Given the description of an element on the screen output the (x, y) to click on. 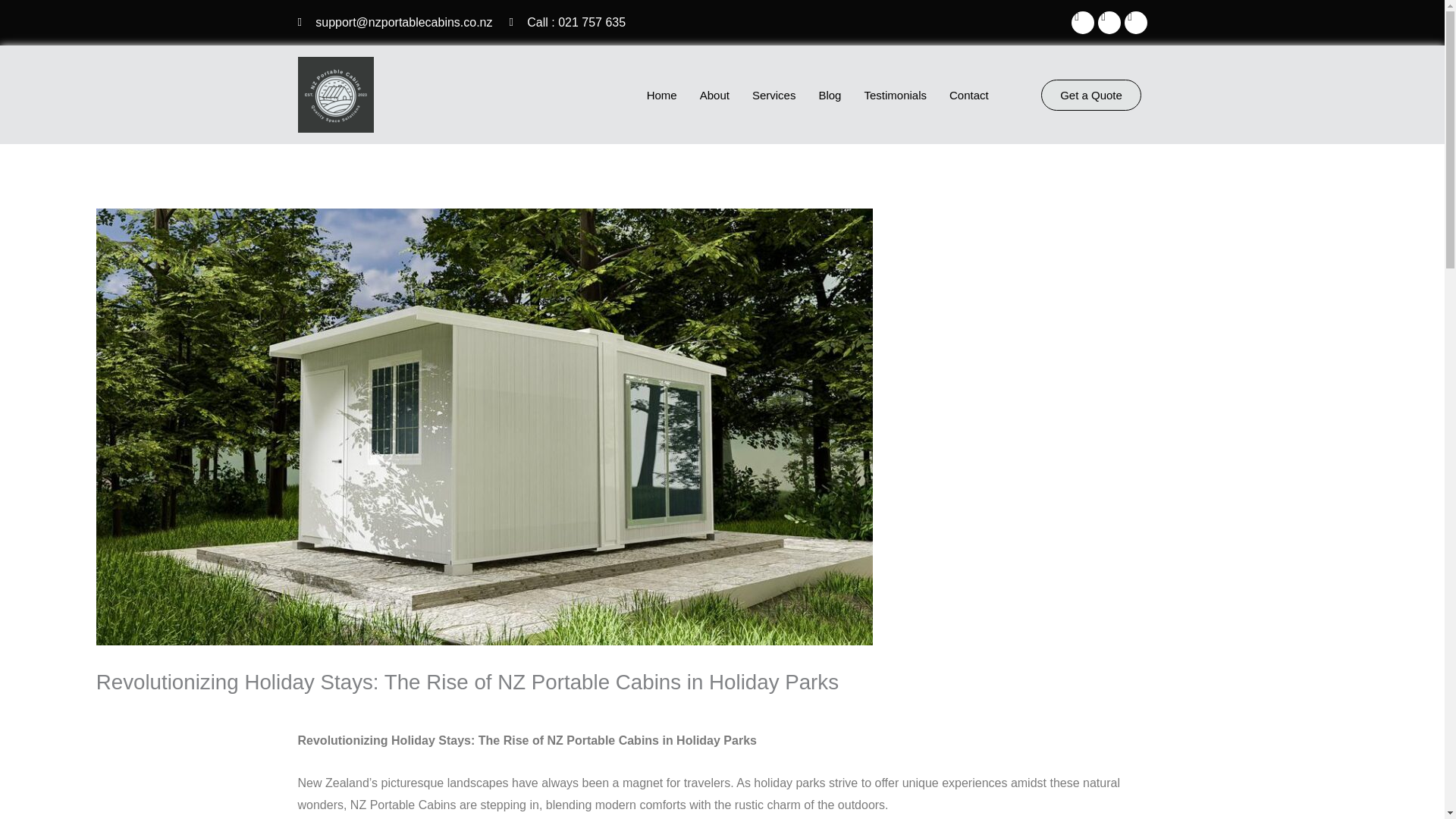
About (714, 93)
Twitter (1109, 22)
Call : 021 757 635 (567, 22)
Get a Quote (1091, 93)
Facebook (1081, 22)
Blog (828, 93)
Instagram (1135, 22)
Contact (968, 93)
Testimonials (894, 93)
Home (661, 93)
